Given the description of an element on the screen output the (x, y) to click on. 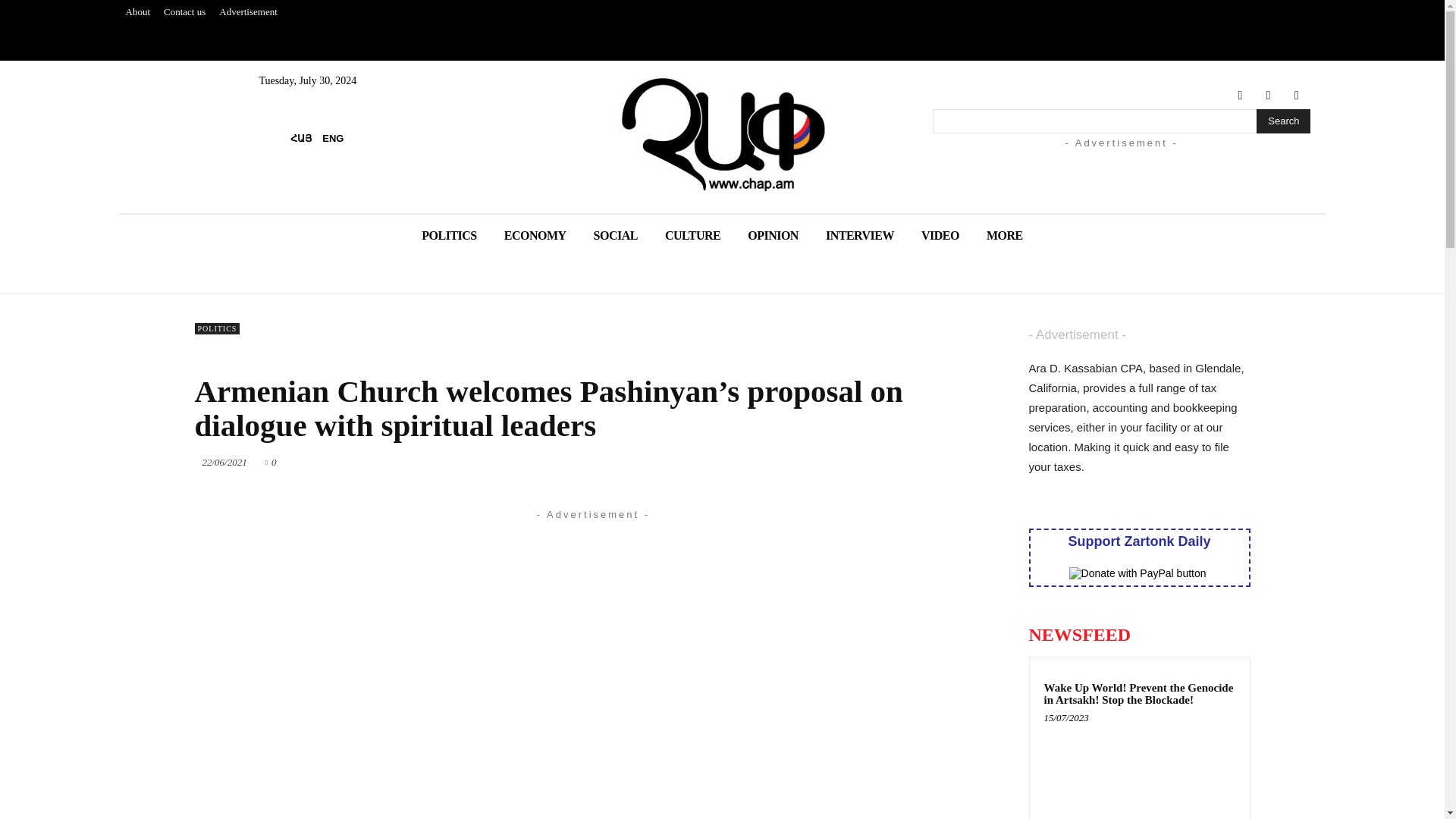
SOCIAL (614, 235)
POLITICS (448, 235)
Facebook (1240, 95)
Contact us (184, 12)
ECONOMY (534, 235)
MORE (1004, 235)
Advertisement (247, 12)
CULTURE (691, 235)
Telegram (1267, 95)
OPINION (772, 235)
VIDEO (939, 235)
About (137, 12)
ENG (333, 137)
INTERVIEW (859, 235)
Search (1283, 120)
